Given the description of an element on the screen output the (x, y) to click on. 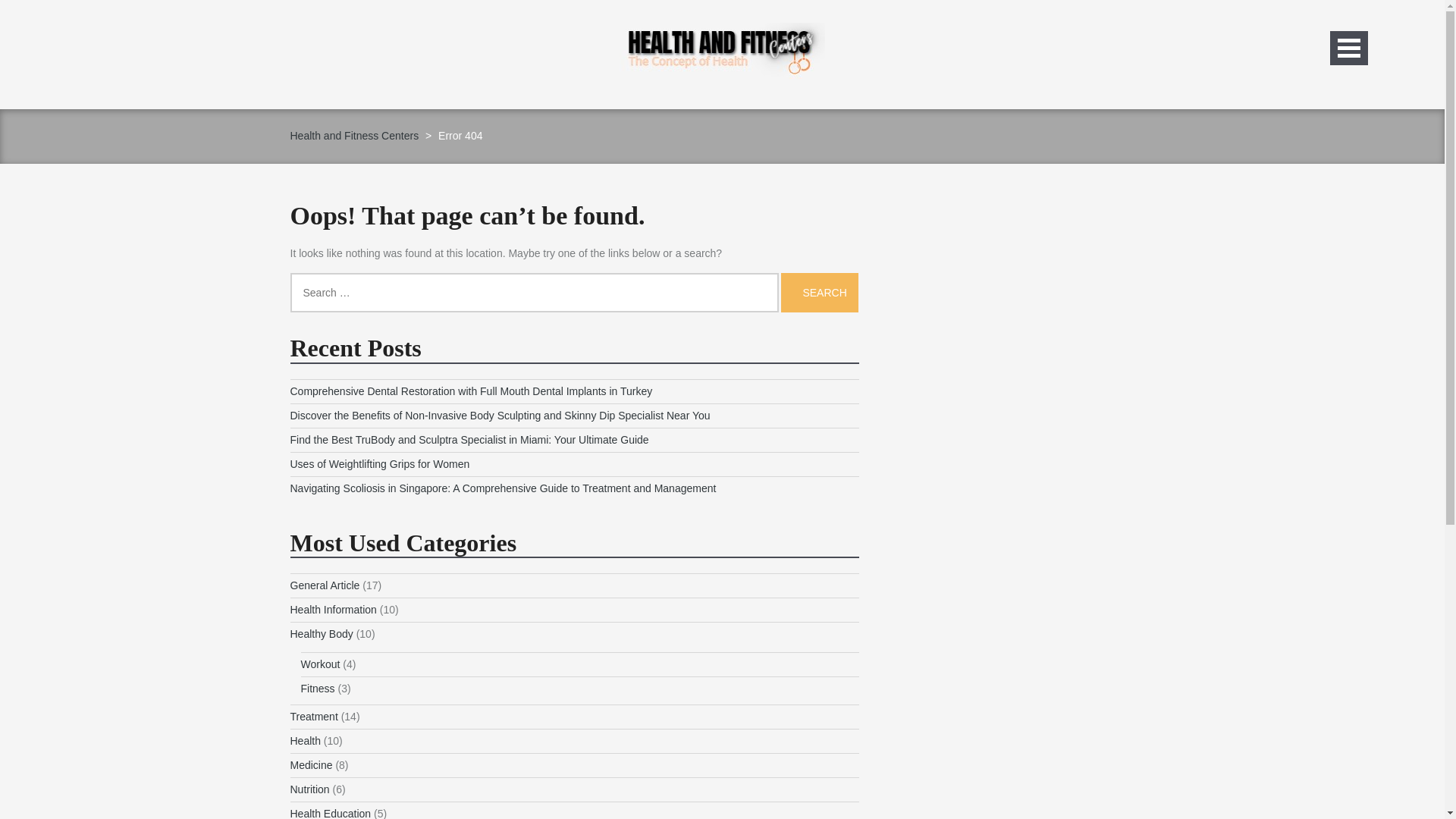
Search (819, 292)
Search (819, 292)
